Given the description of an element on the screen output the (x, y) to click on. 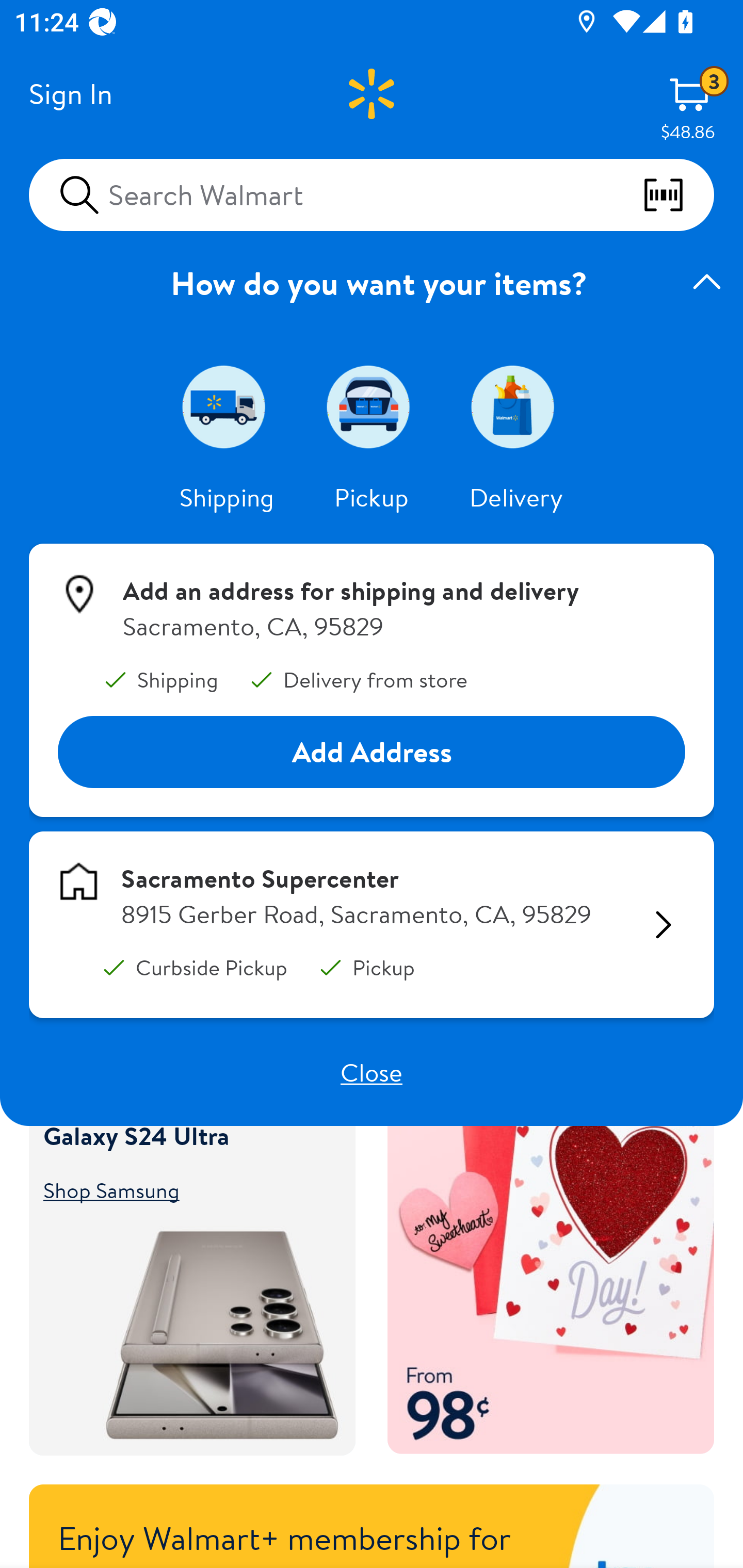
Sign In (70, 93)
Search Walmart scan barcodes qr codes and more (371, 194)
scan barcodes qr codes and more (677, 195)
How do you want your items? expanded (371, 282)
Shipping 1 of 3 (226, 406)
Pickup 2 of 3 (371, 406)
Delivery 3 of 3 (515, 406)
Add Address (371, 752)
Close (371, 1072)
Shop Samsung Shop Samsung Galaxy S24 Ultra (183, 1190)
